Given the description of an element on the screen output the (x, y) to click on. 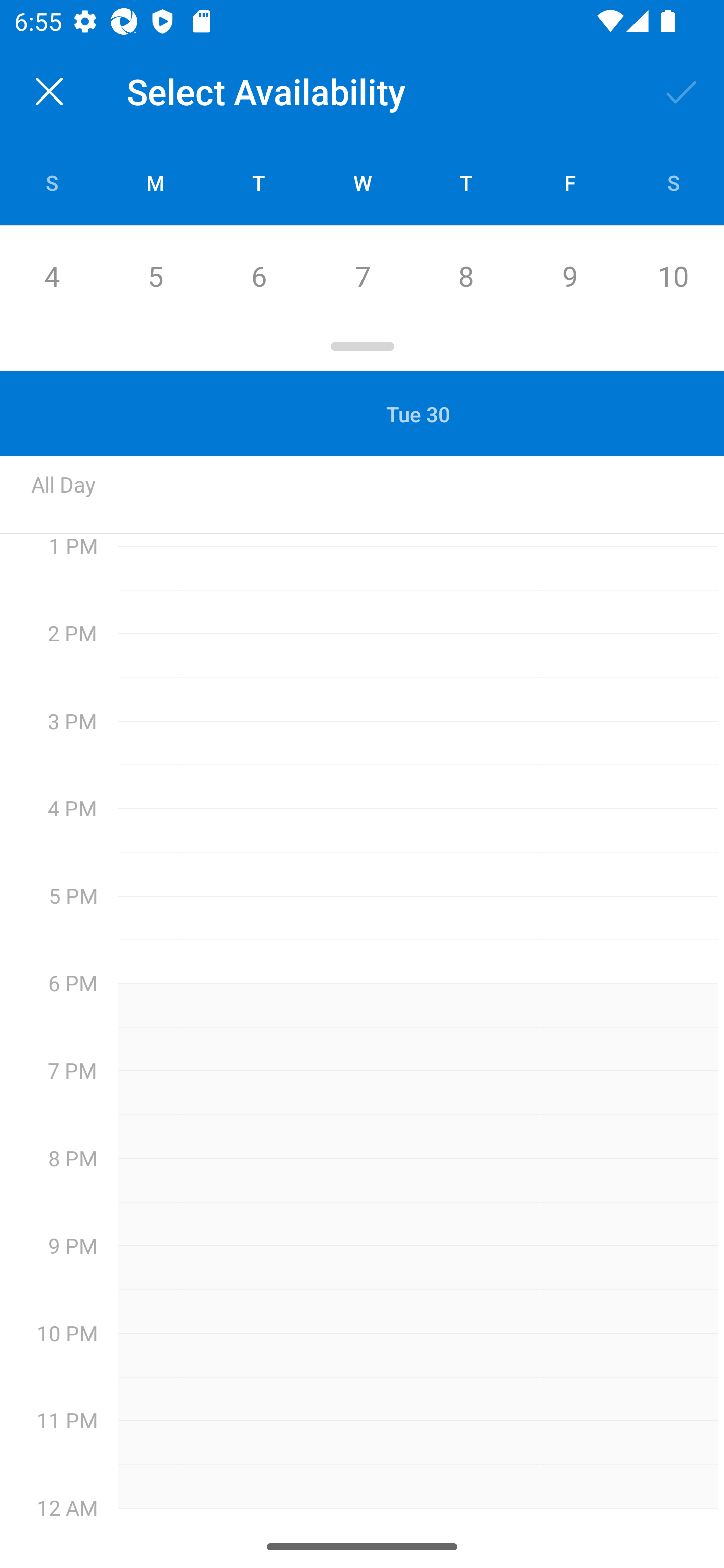
Close (49, 91)
Done button (681, 90)
4 Sunday, February 4 (51, 277)
5 Monday, February 5 (155, 277)
6 Tuesday, February 6 (258, 277)
7 Wednesday, February 7 (362, 277)
8 Thursday, February 8 (465, 277)
9 Friday, February 9 (569, 277)
10 Saturday, February 10 (672, 277)
Day picker expand (362, 350)
